Given the description of an element on the screen output the (x, y) to click on. 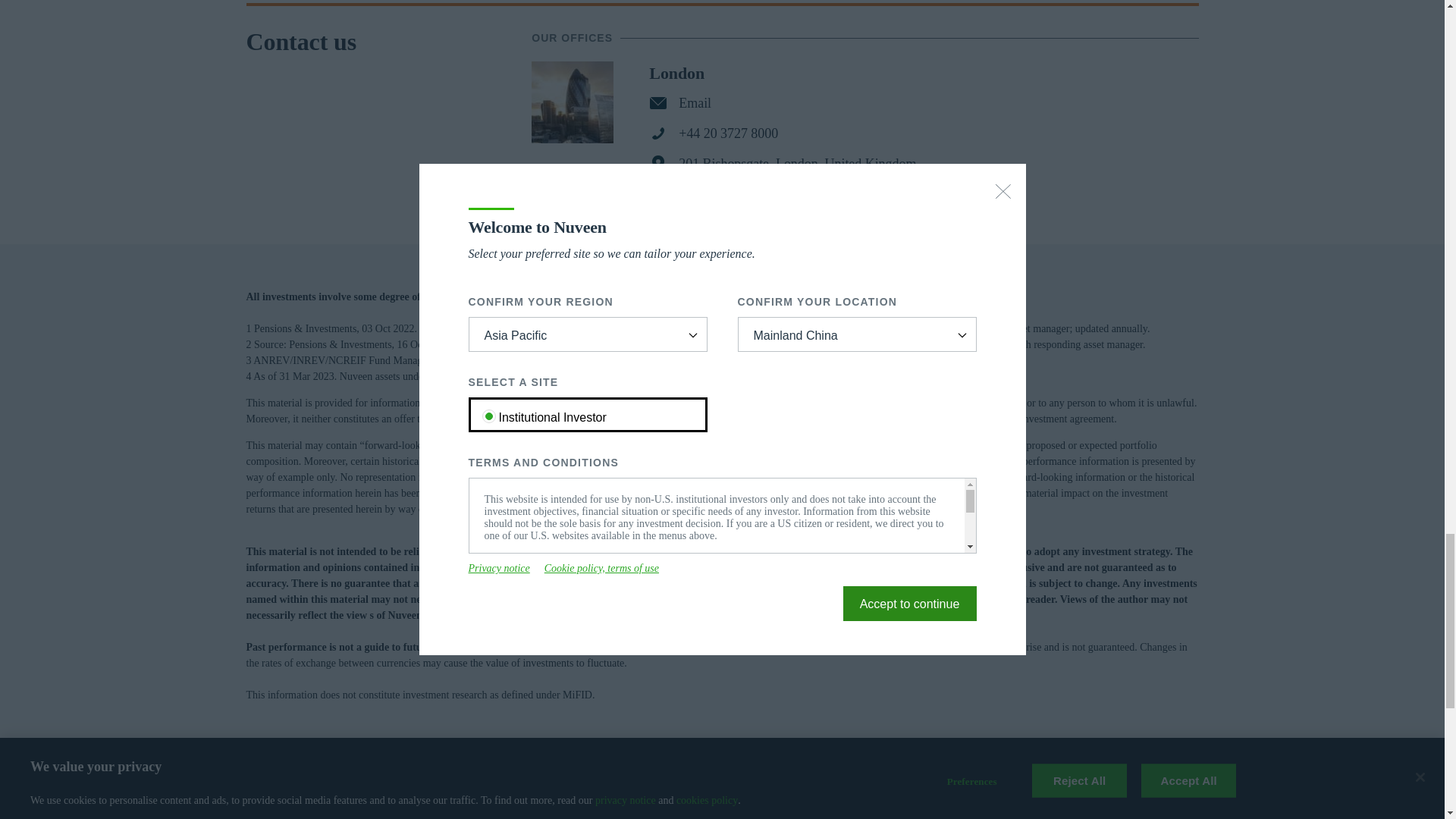
opens in a new window (845, 792)
opens in a new window (1013, 792)
opens in a new window (1097, 792)
opens in a new window (928, 792)
